Given the description of an element on the screen output the (x, y) to click on. 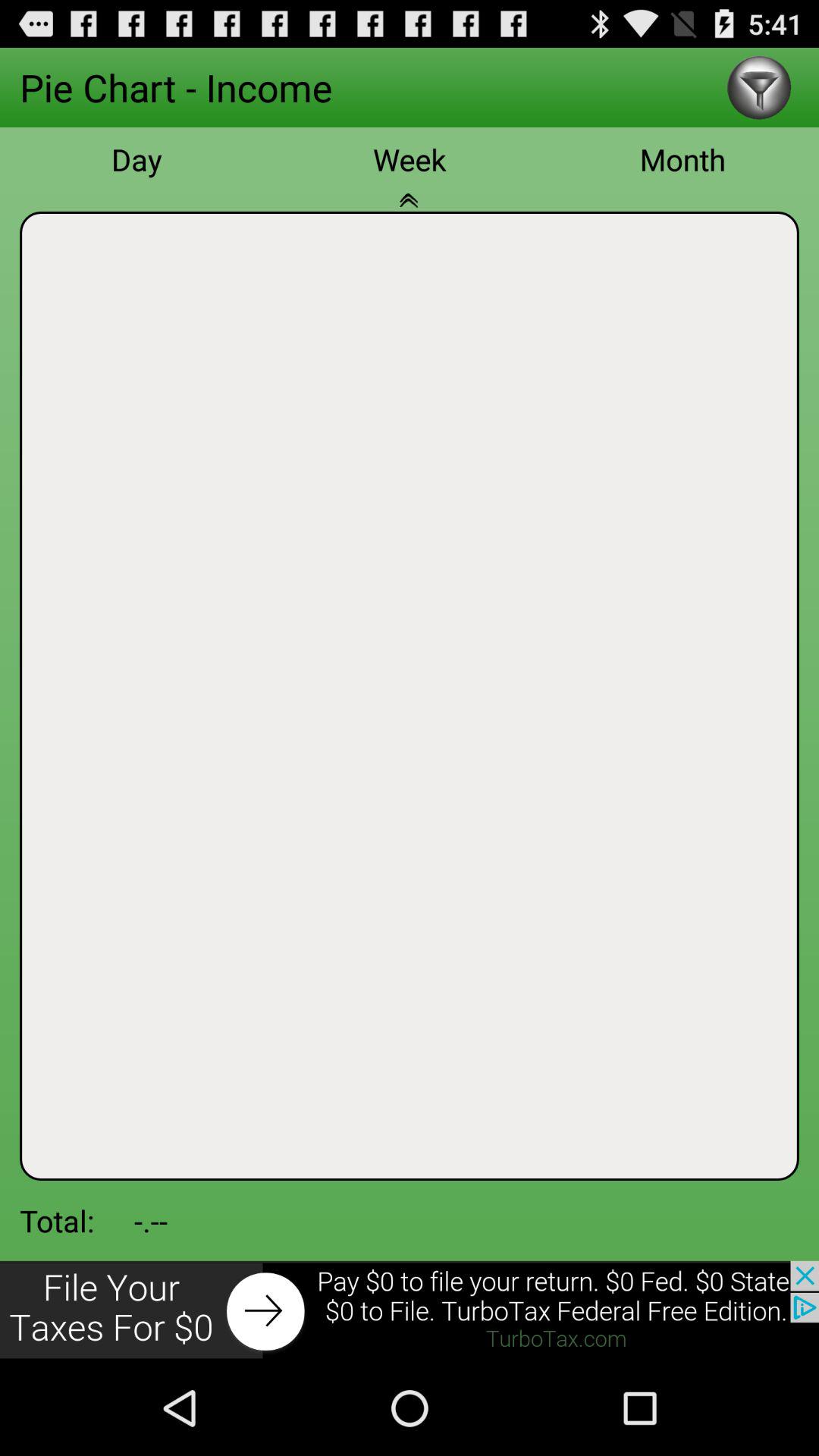
move to different tab (409, 209)
